Given the description of an element on the screen output the (x, y) to click on. 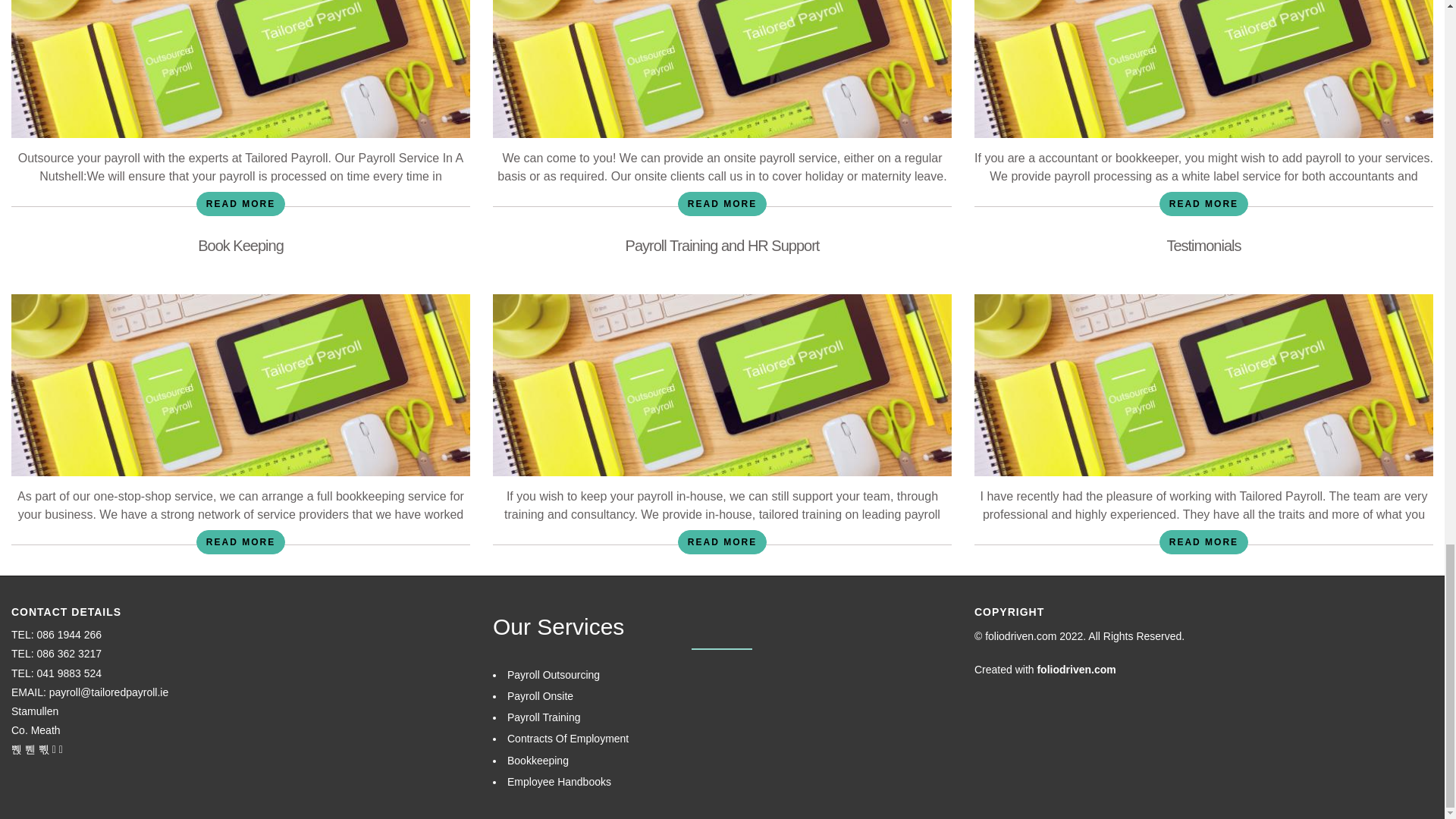
READ MORE (722, 541)
READ MORE (1202, 541)
Payroll Training and HR Support (722, 245)
READ MORE (1202, 203)
Testimonials (1203, 245)
READ MORE (722, 203)
READ MORE (240, 203)
READ MORE (240, 541)
Book Keeping (240, 245)
